Given the description of an element on the screen output the (x, y) to click on. 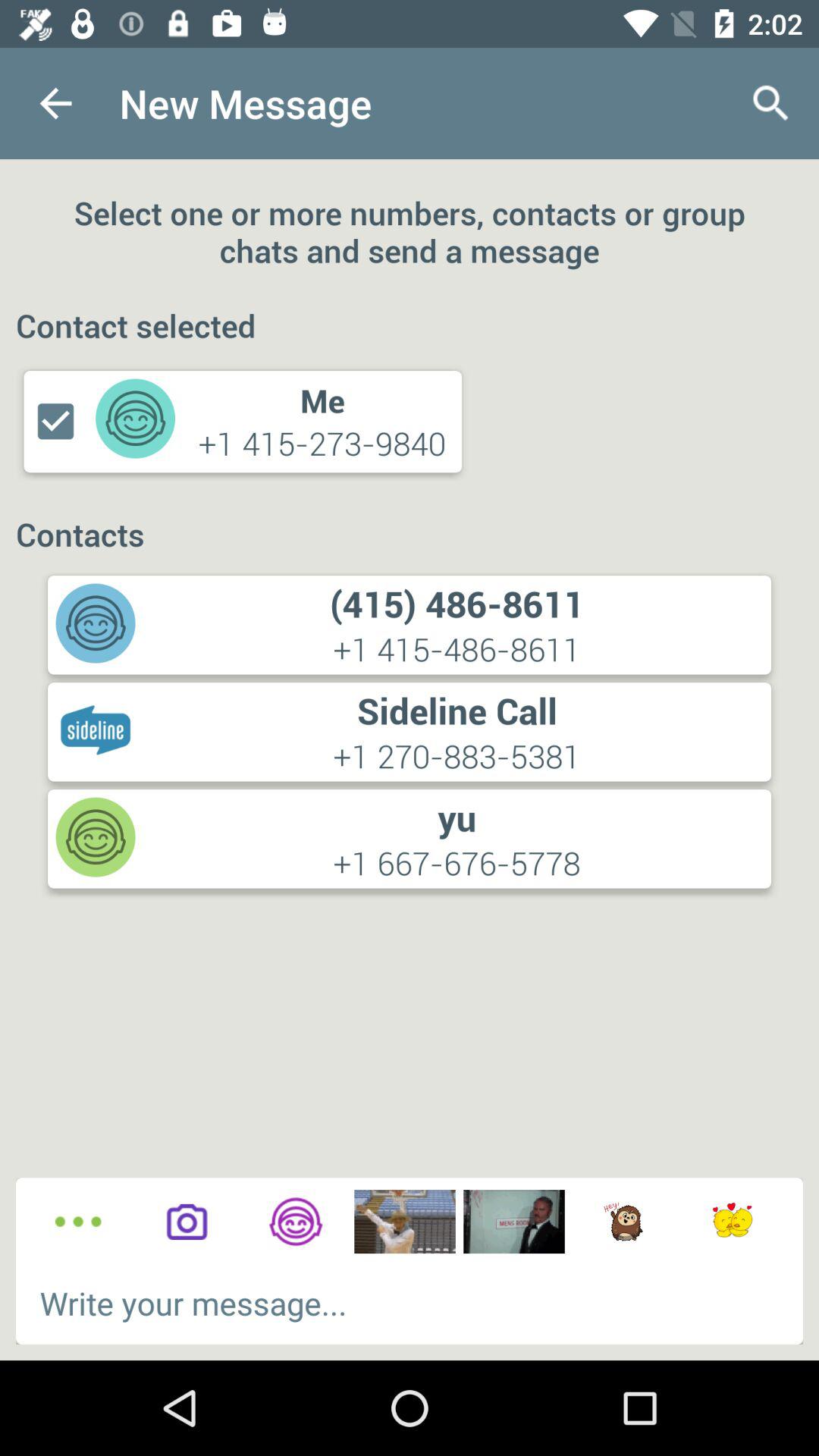
click app to the left of the new message app (55, 103)
